Given the description of an element on the screen output the (x, y) to click on. 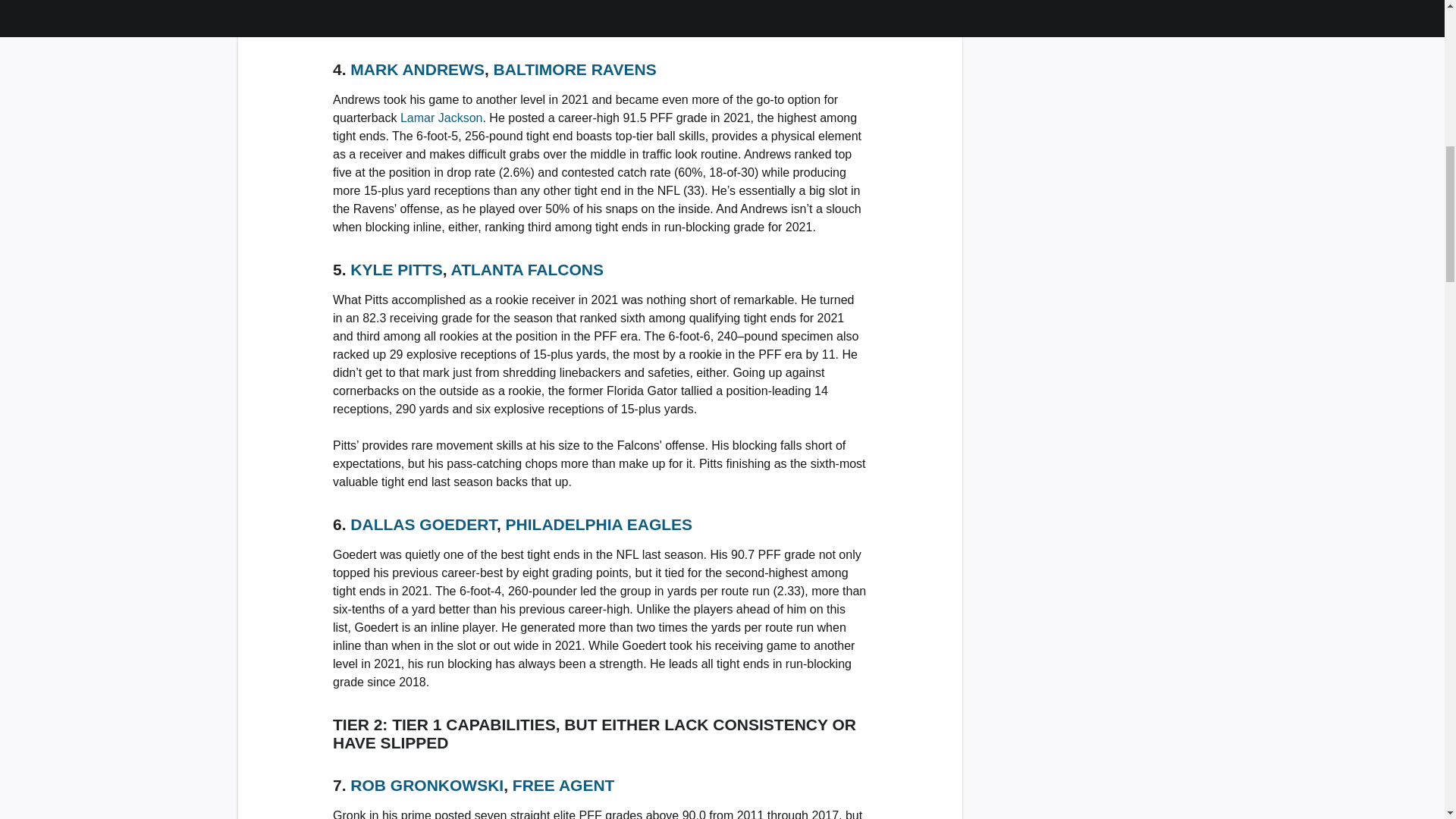
PHILADELPHIA EAGLES (599, 524)
FREE AGENT (563, 784)
KYLE PITTS (396, 269)
Lamar Jackson (441, 117)
ATLANTA FALCONS (527, 269)
BALTIMORE RAVENS (574, 68)
ROB GRONKOWSKI (426, 784)
Davante Adams (376, 26)
DALLAS GOEDERT (423, 524)
MARK ANDREWS (417, 68)
